Given the description of an element on the screen output the (x, y) to click on. 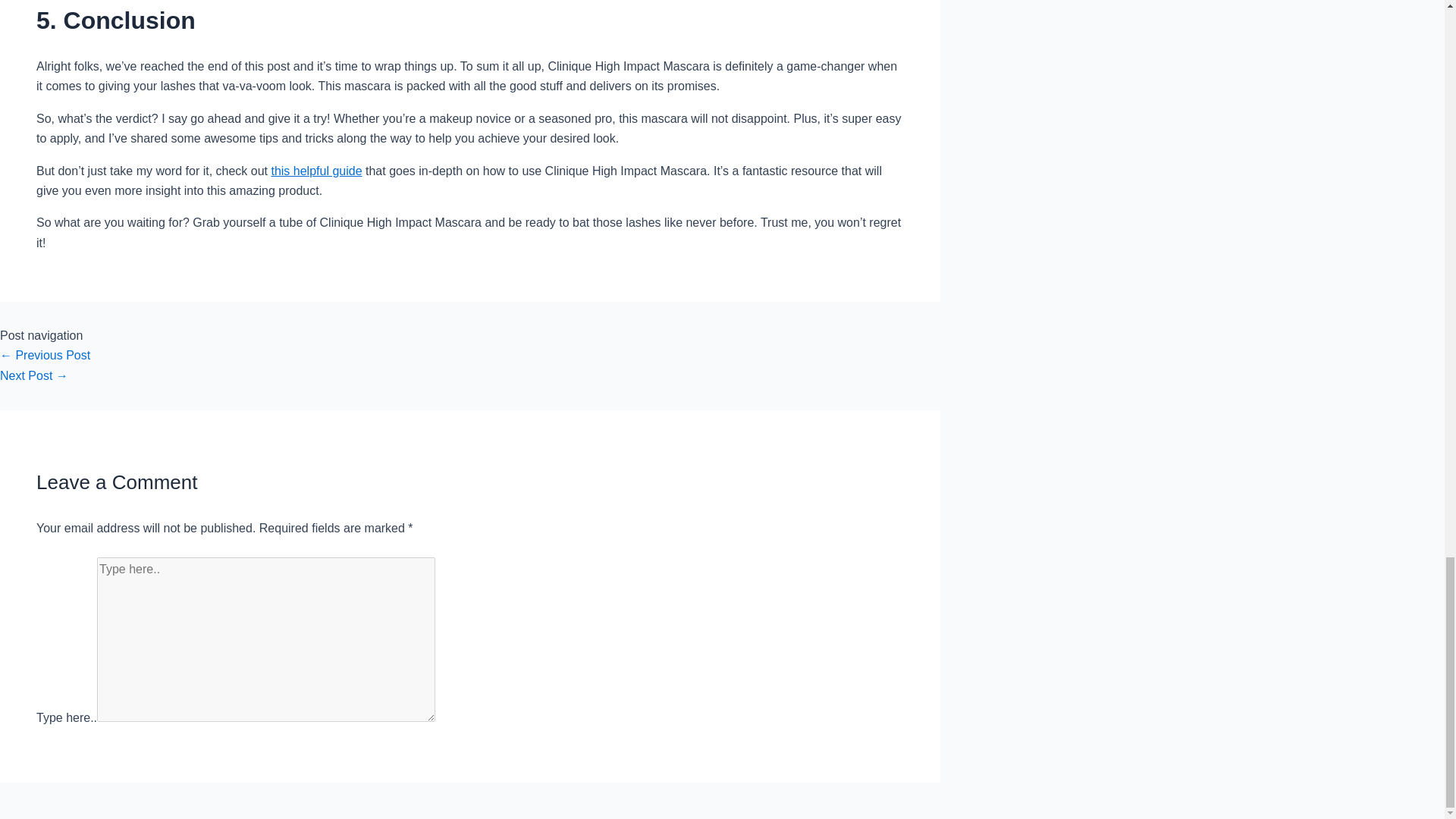
this helpful guide (315, 169)
The Sparkle of Makeup What is Shimmer Made Of? (34, 375)
Uncovering the Secrets of Clinique Mascara (45, 354)
